Given the description of an element on the screen output the (x, y) to click on. 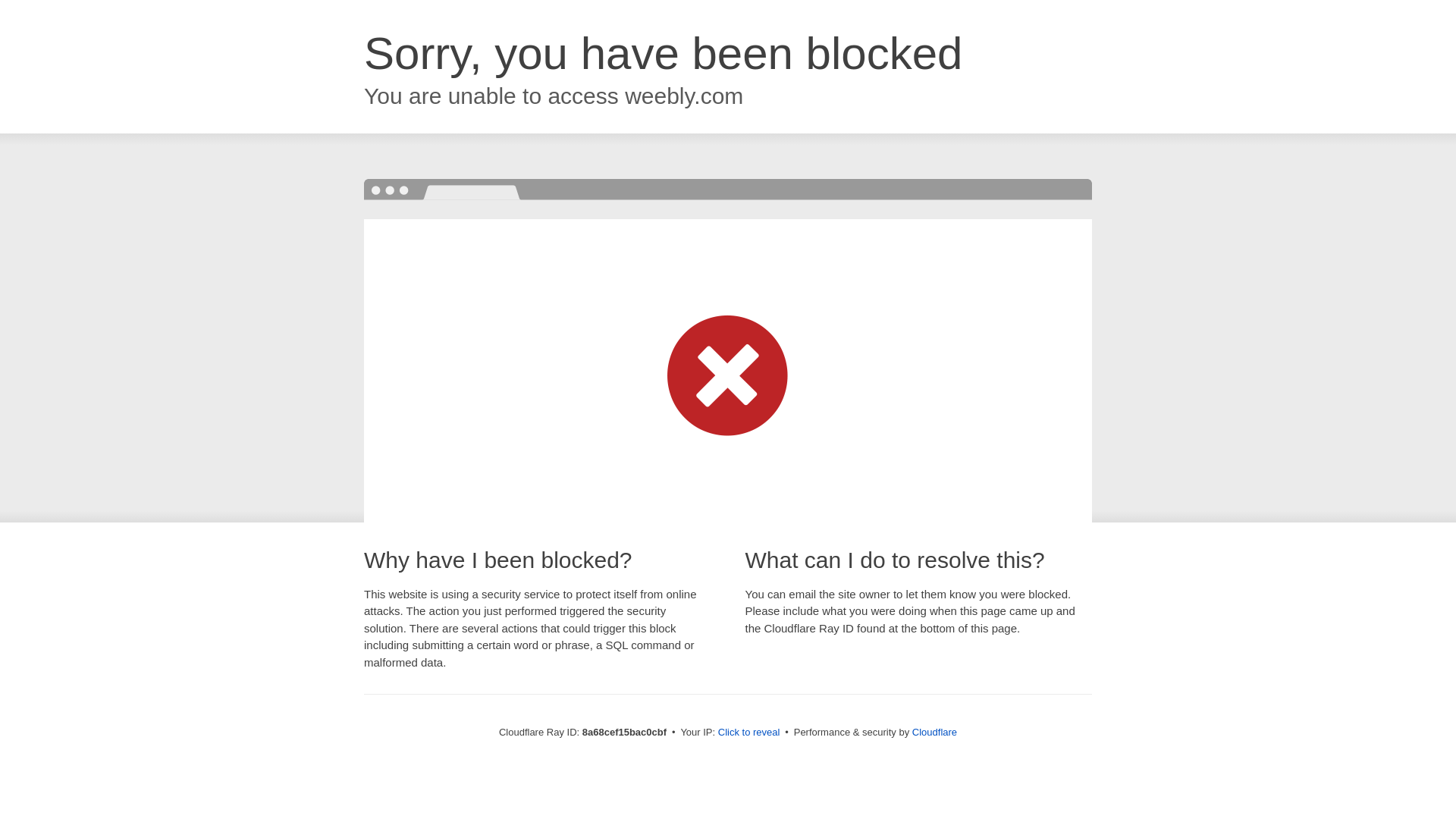
Click to reveal (748, 732)
Cloudflare (934, 731)
